Given the description of an element on the screen output the (x, y) to click on. 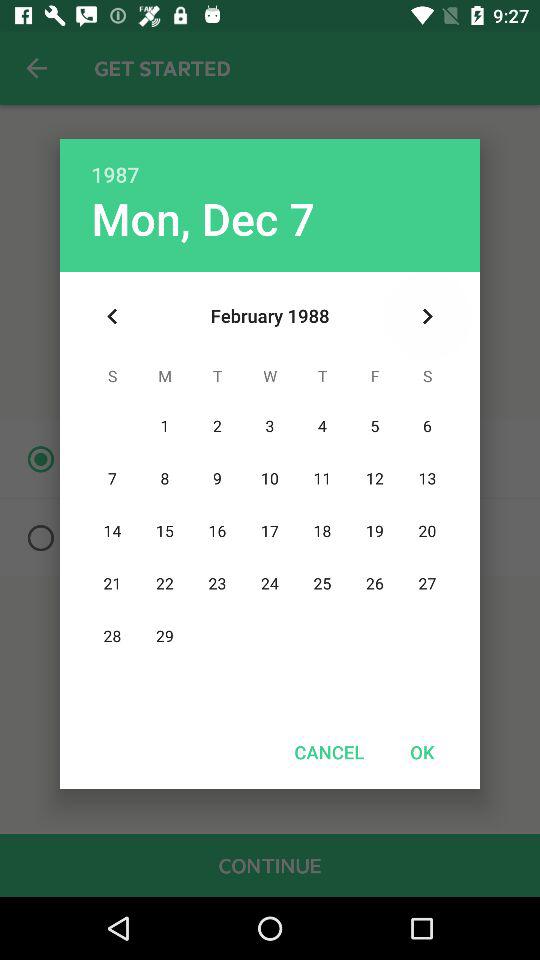
turn off cancel item (329, 751)
